Given the description of an element on the screen output the (x, y) to click on. 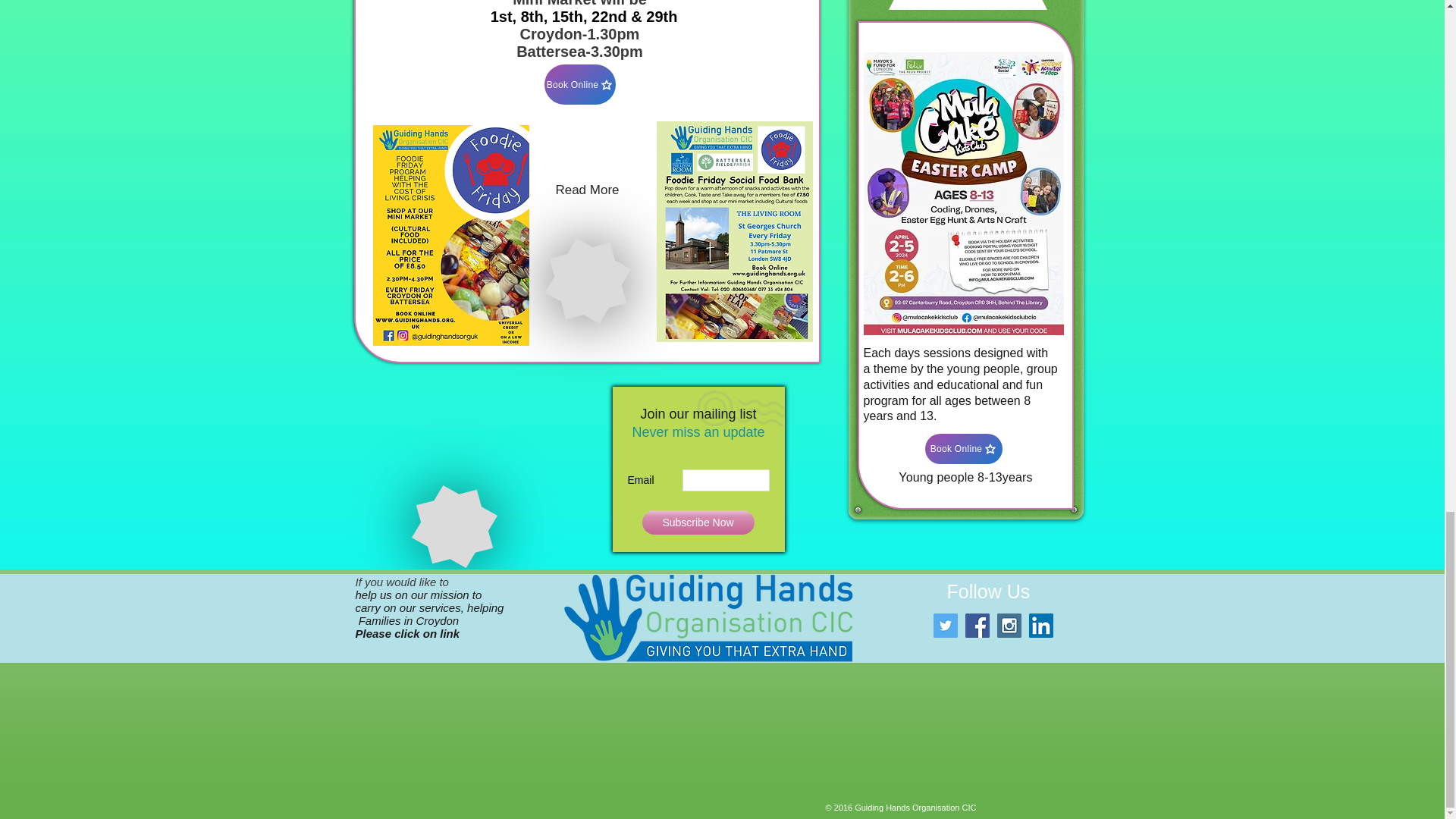
Read More (588, 190)
Book Online (579, 84)
Subscribe Now (698, 522)
Book Online (963, 449)
